Given the description of an element on the screen output the (x, y) to click on. 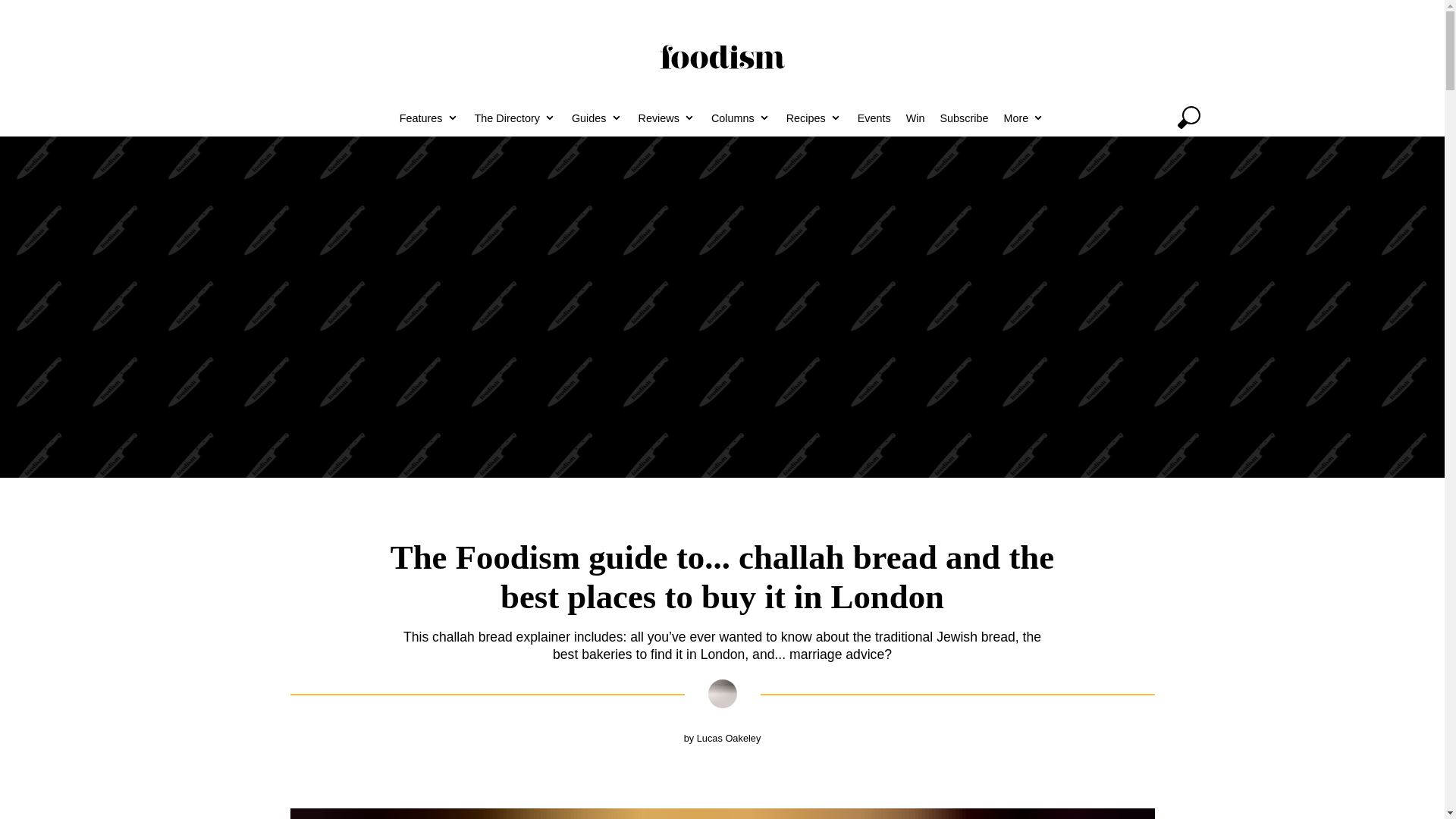
The Directory (515, 117)
Features (429, 117)
The Directory (515, 117)
Features (429, 117)
